Given the description of an element on the screen output the (x, y) to click on. 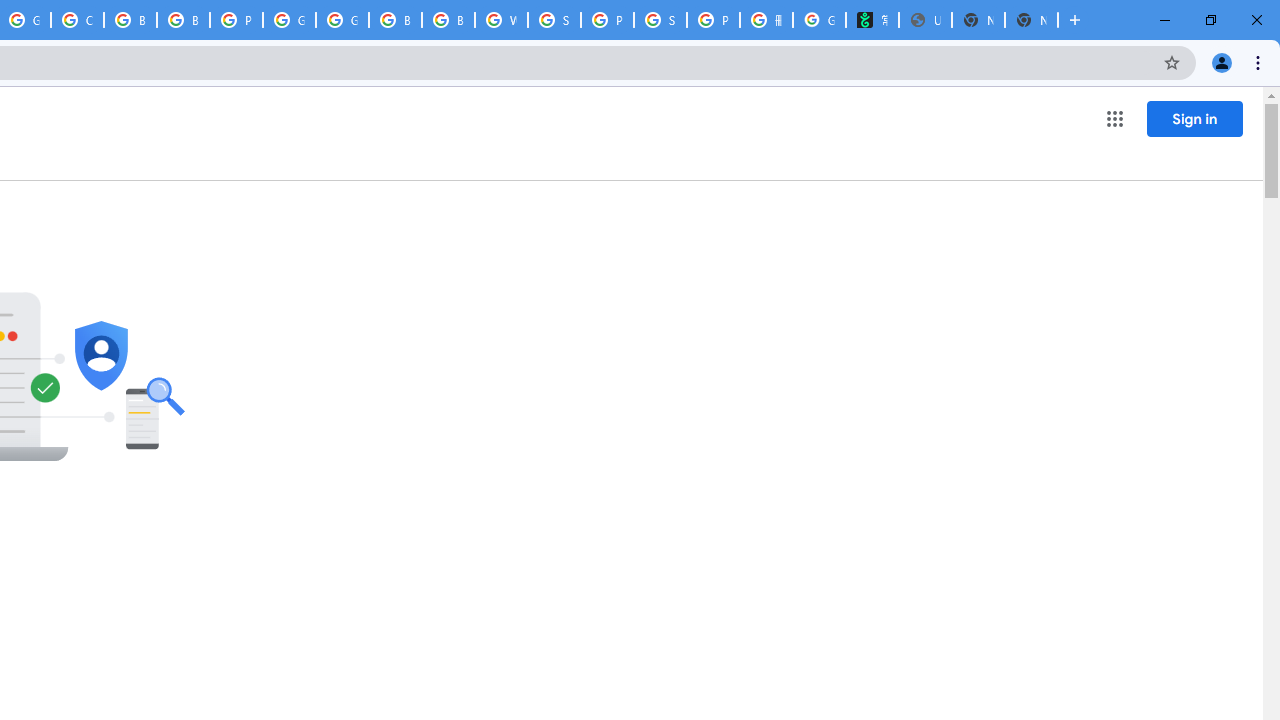
Google Cloud Platform (289, 20)
Google Cloud Platform (342, 20)
New Tab (1031, 20)
Browse Chrome as a guest - Computer - Google Chrome Help (130, 20)
Browse Chrome as a guest - Computer - Google Chrome Help (395, 20)
